Given the description of an element on the screen output the (x, y) to click on. 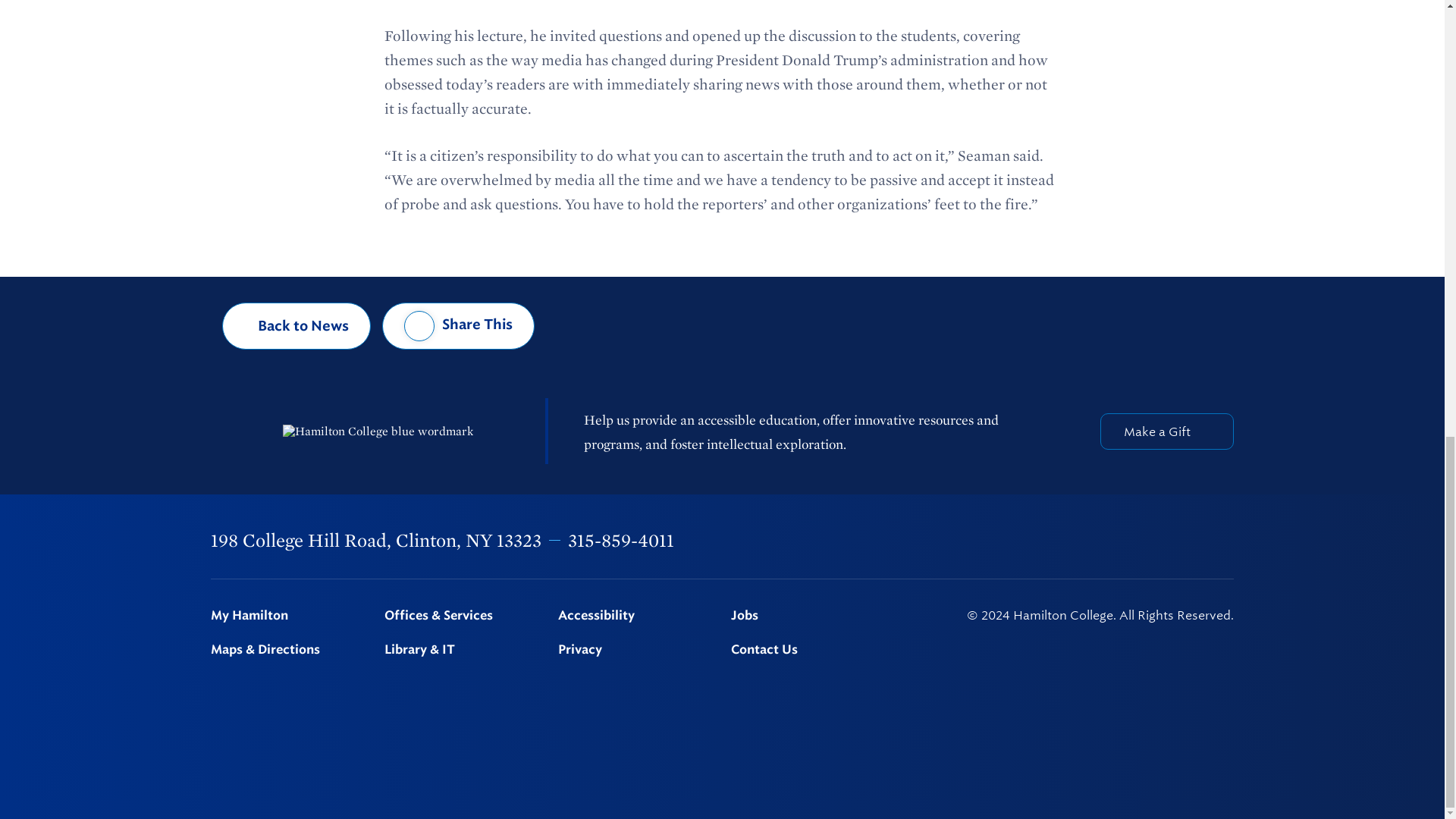
315-859-4011 (620, 540)
Instagram (1109, 540)
Youtube (1188, 540)
Linkedin (1149, 540)
Facebook (1029, 540)
Share This (457, 325)
My Hamilton (288, 615)
198 College Hill Road, Clinton, NY 13323 (375, 540)
Back to News (296, 325)
Twitter (1069, 540)
Make a Gift (1166, 431)
TikTok (1226, 540)
Accessibility (635, 615)
